Given the description of an element on the screen output the (x, y) to click on. 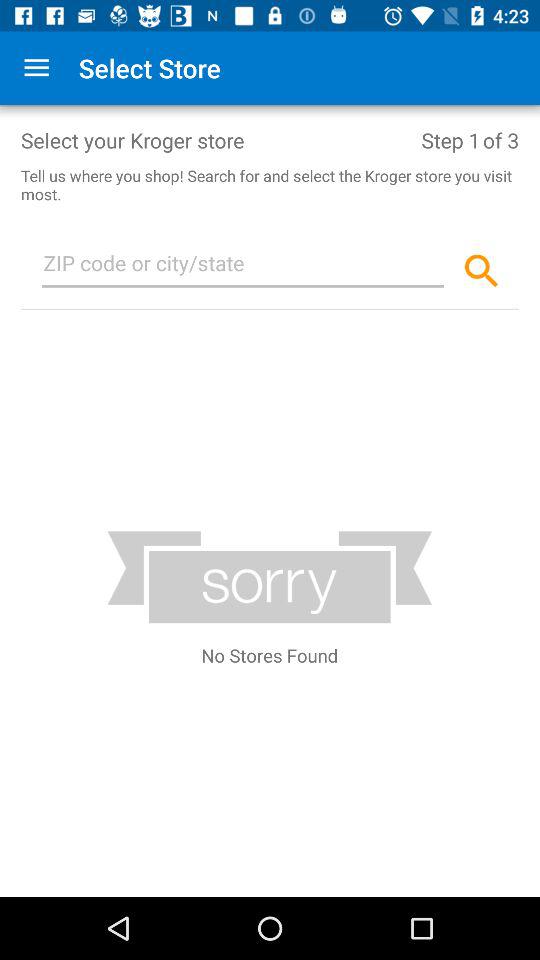
enter zip code city or state (243, 267)
